Given the description of an element on the screen output the (x, y) to click on. 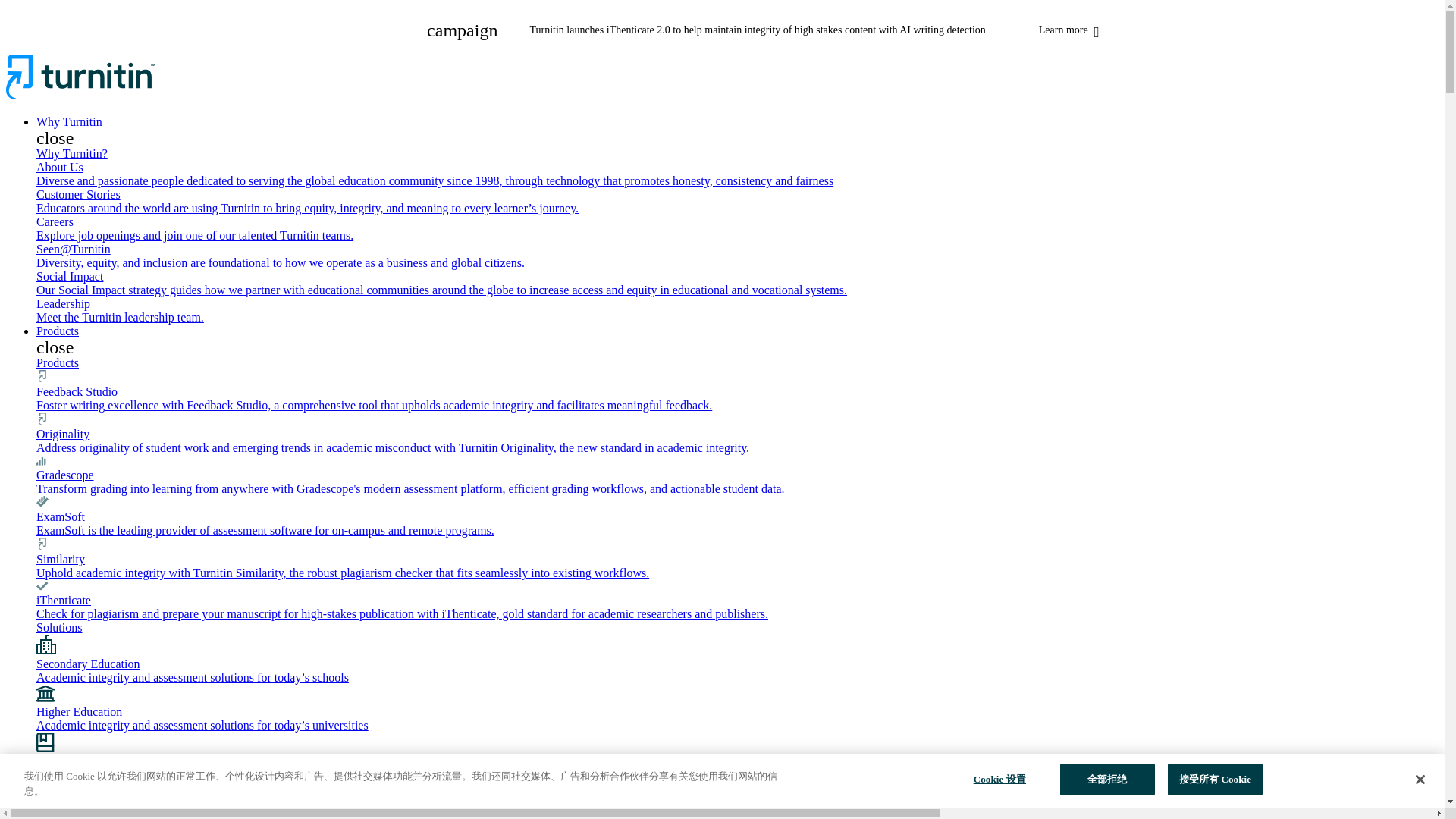
Topics (737, 800)
Products (57, 330)
Why Turnitin? (71, 153)
Products (57, 362)
Solutions (58, 626)
Learn more (1065, 29)
Products (57, 362)
